Given the description of an element on the screen output the (x, y) to click on. 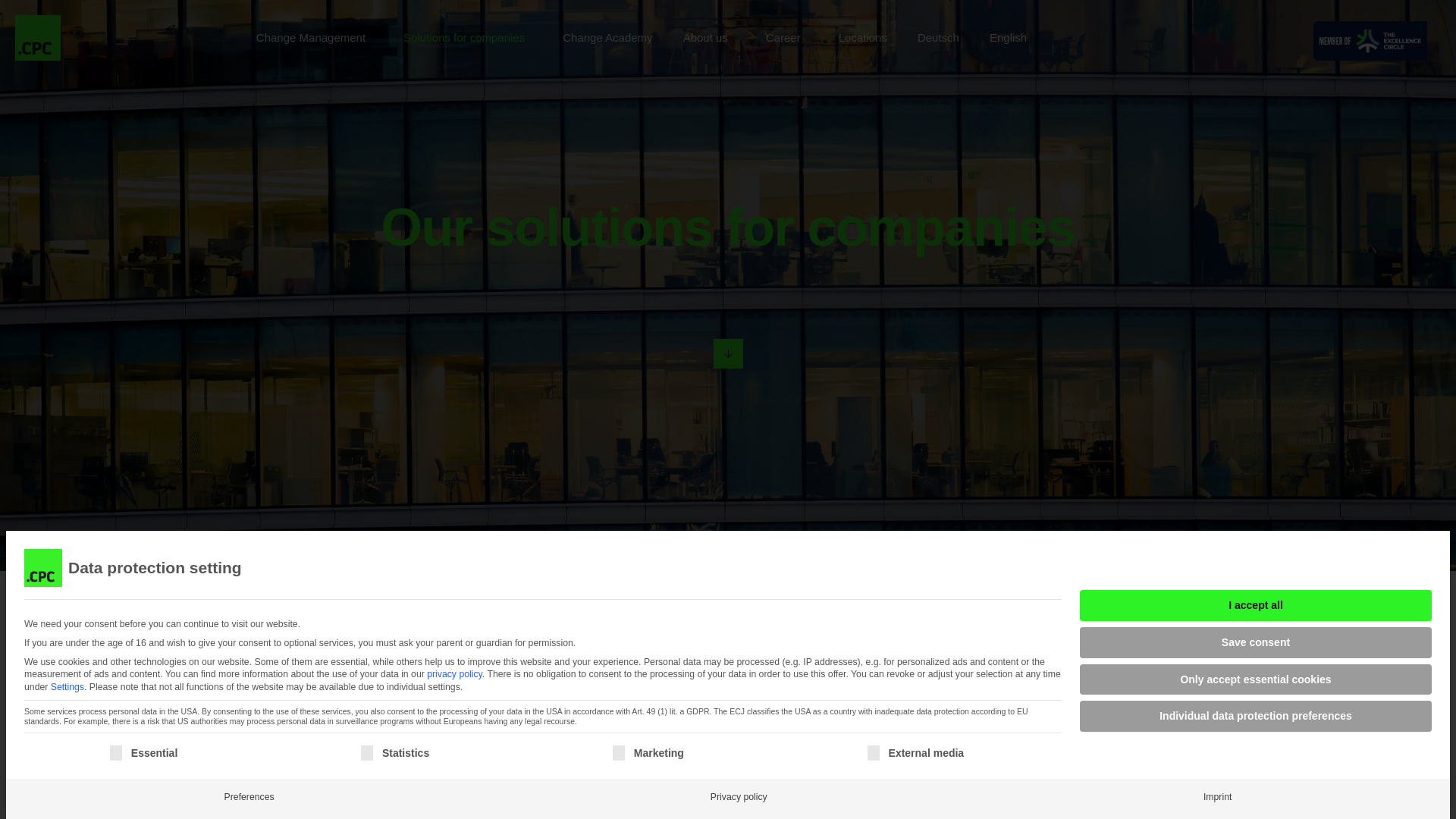
English (1008, 37)
Career (786, 37)
on (618, 752)
Deutsch (938, 37)
About us (708, 37)
on (873, 752)
Change Academy (607, 37)
Solutions for companies (467, 37)
Deutsch (938, 37)
on (366, 752)
on (116, 752)
Change Management (314, 37)
English (1008, 37)
Locations (862, 37)
